Given the description of an element on the screen output the (x, y) to click on. 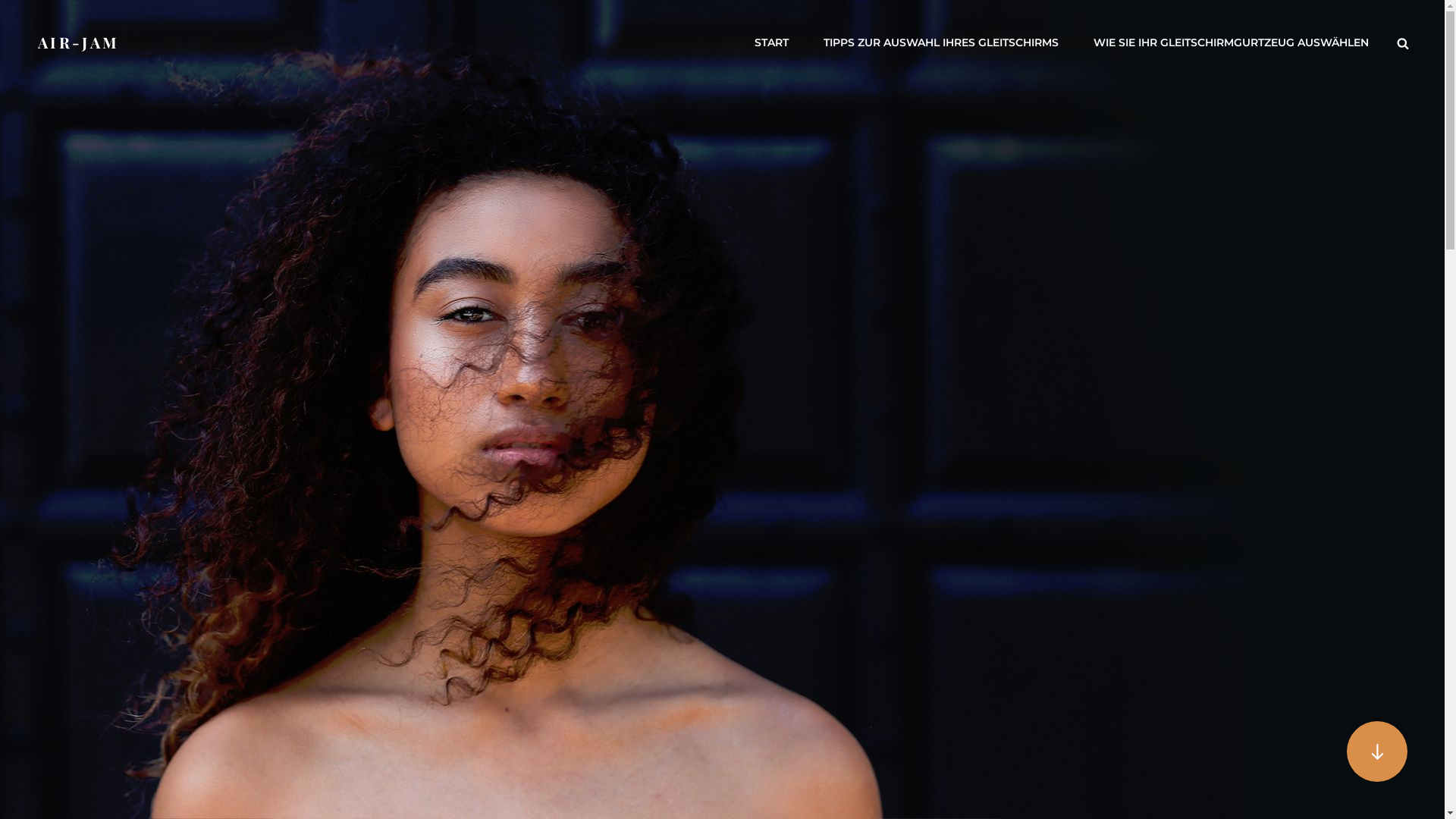
Search Element type: text (1402, 42)
TIPPS ZUR AUSWAHL IHRES GLEITSCHIRMS Element type: text (940, 42)
START Element type: text (771, 42)
AIR-JAM Element type: text (78, 41)
